Given the description of an element on the screen output the (x, y) to click on. 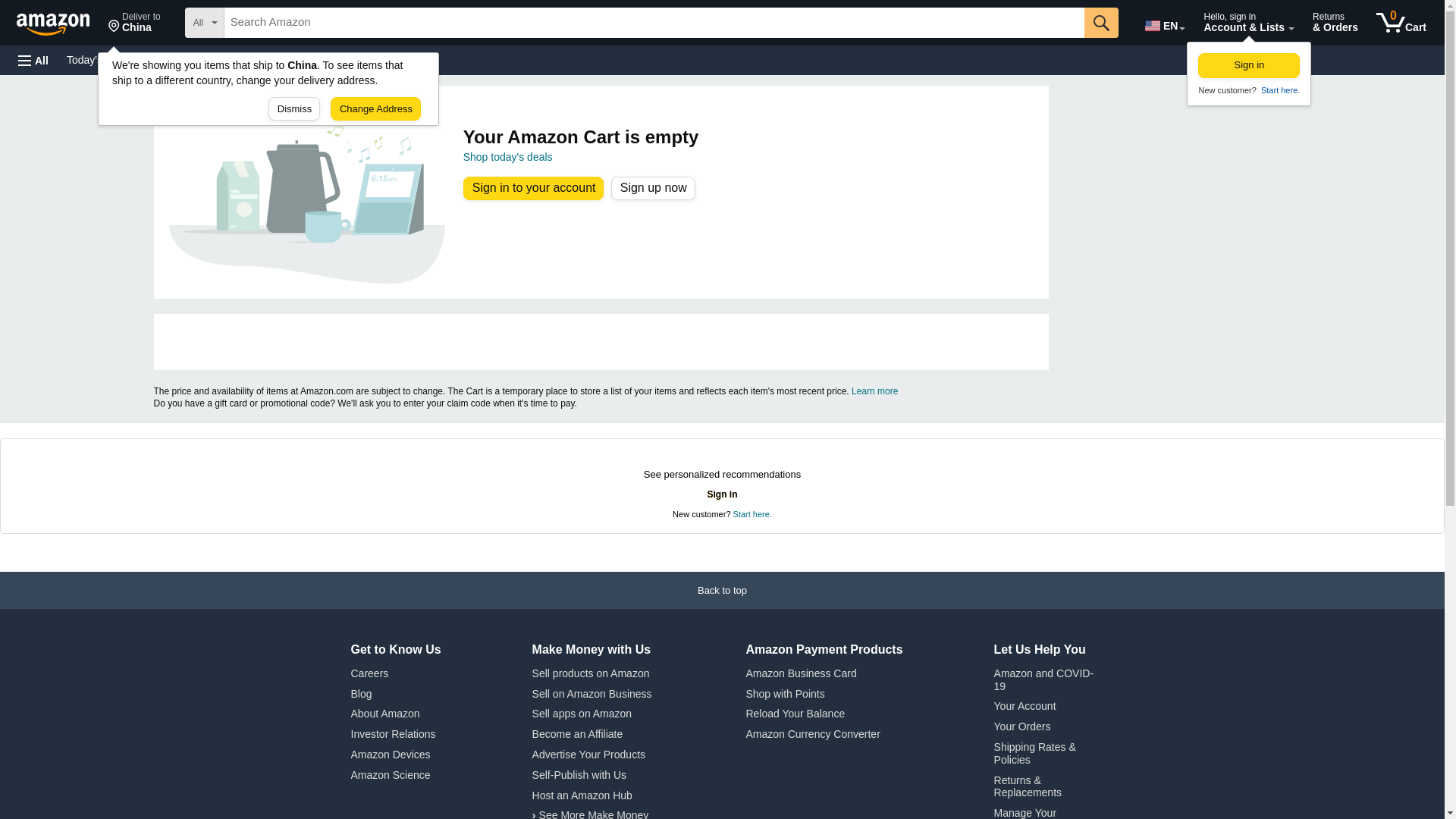
Shop today's deals (508, 156)
EN (1163, 22)
Gift Cards (333, 59)
Skip to main content (60, 21)
Go (1101, 22)
Start here. (1279, 90)
Sign up now (134, 22)
Today's Deals (652, 188)
Registry (99, 59)
Sign in to your account (1401, 22)
All (272, 59)
Sell (534, 188)
